Given the description of an element on the screen output the (x, y) to click on. 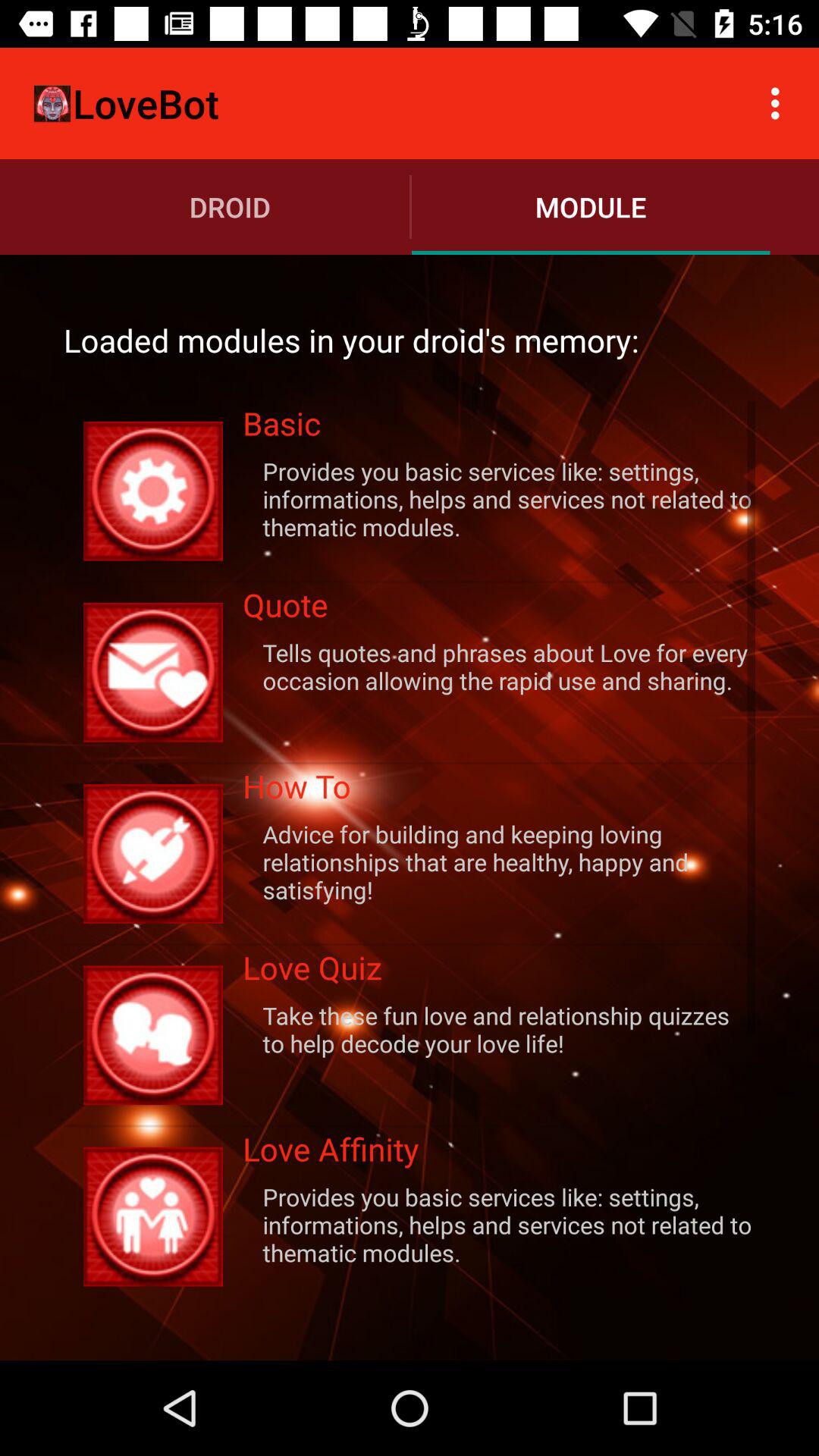
click the item to the right of the module item (779, 103)
